Given the description of an element on the screen output the (x, y) to click on. 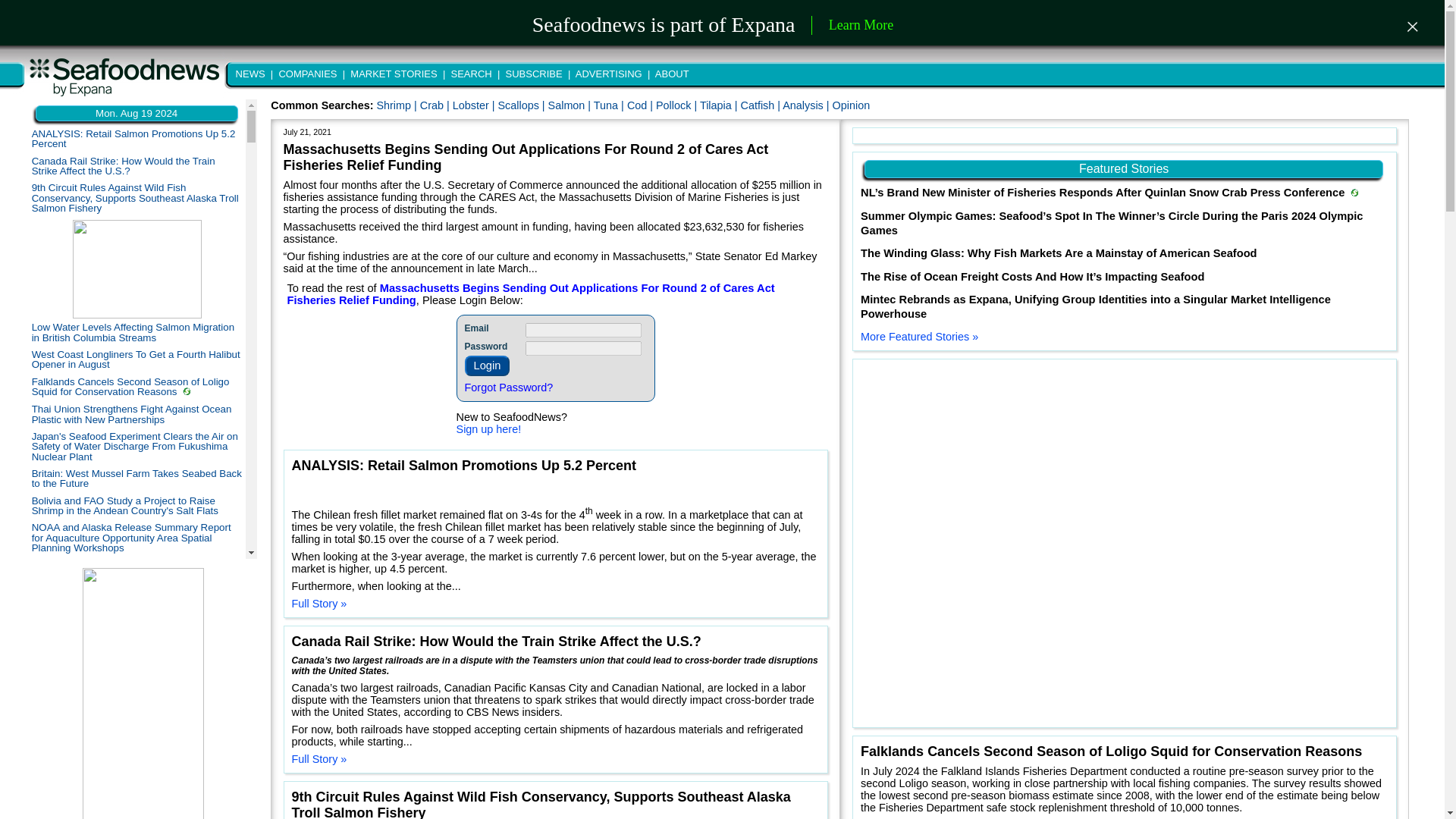
 ABOUT (670, 73)
New USCG Icebreaker Aiviq to be Located in Juneau (132, 806)
Market Story (186, 390)
